Given the description of an element on the screen output the (x, y) to click on. 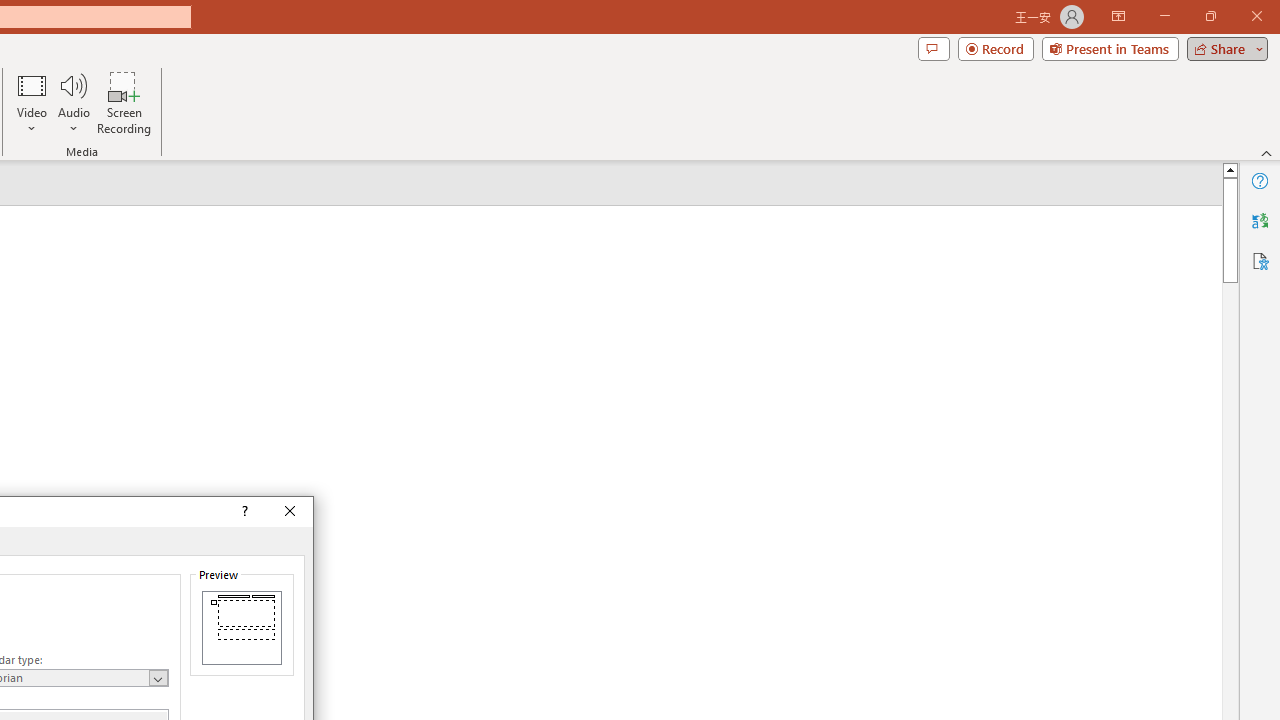
Video (31, 102)
Context help (243, 511)
